Given the description of an element on the screen output the (x, y) to click on. 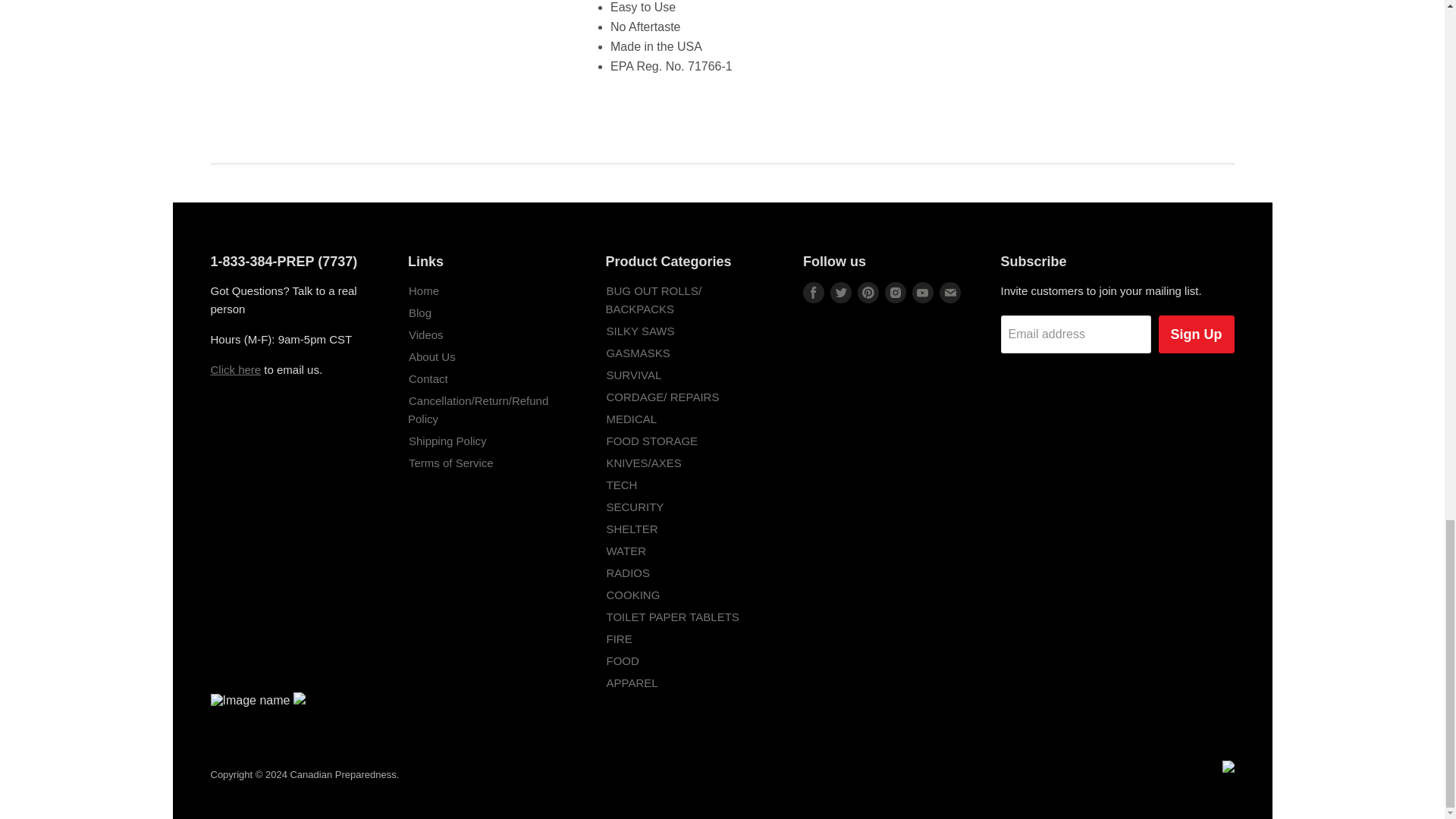
Twitter (840, 292)
E-mail (949, 292)
Pinterest (868, 292)
Instagram (895, 292)
Youtube (922, 292)
Facebook (813, 292)
